Given the description of an element on the screen output the (x, y) to click on. 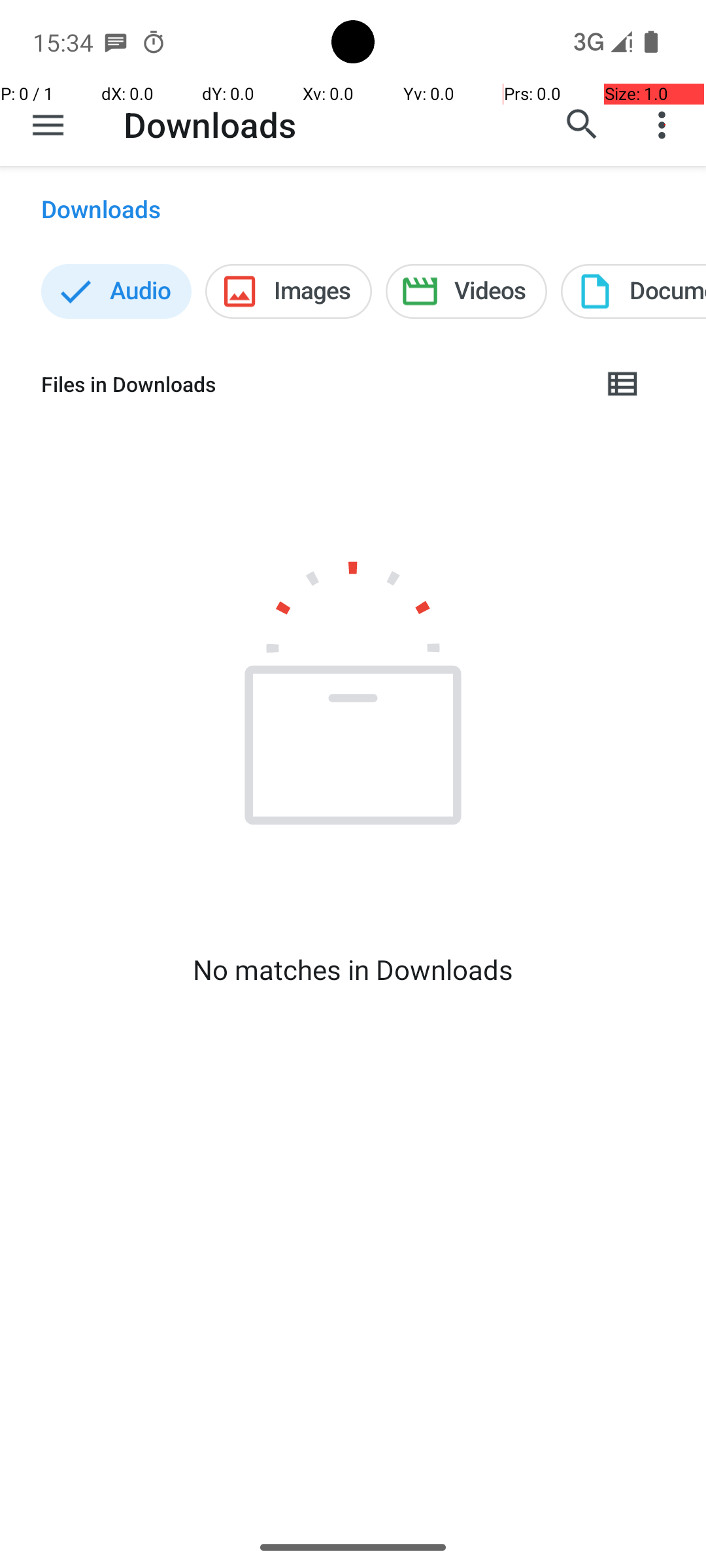
SMS Messenger notification: Amir dos Santos Element type: android.widget.ImageView (115, 41)
